Given the description of an element on the screen output the (x, y) to click on. 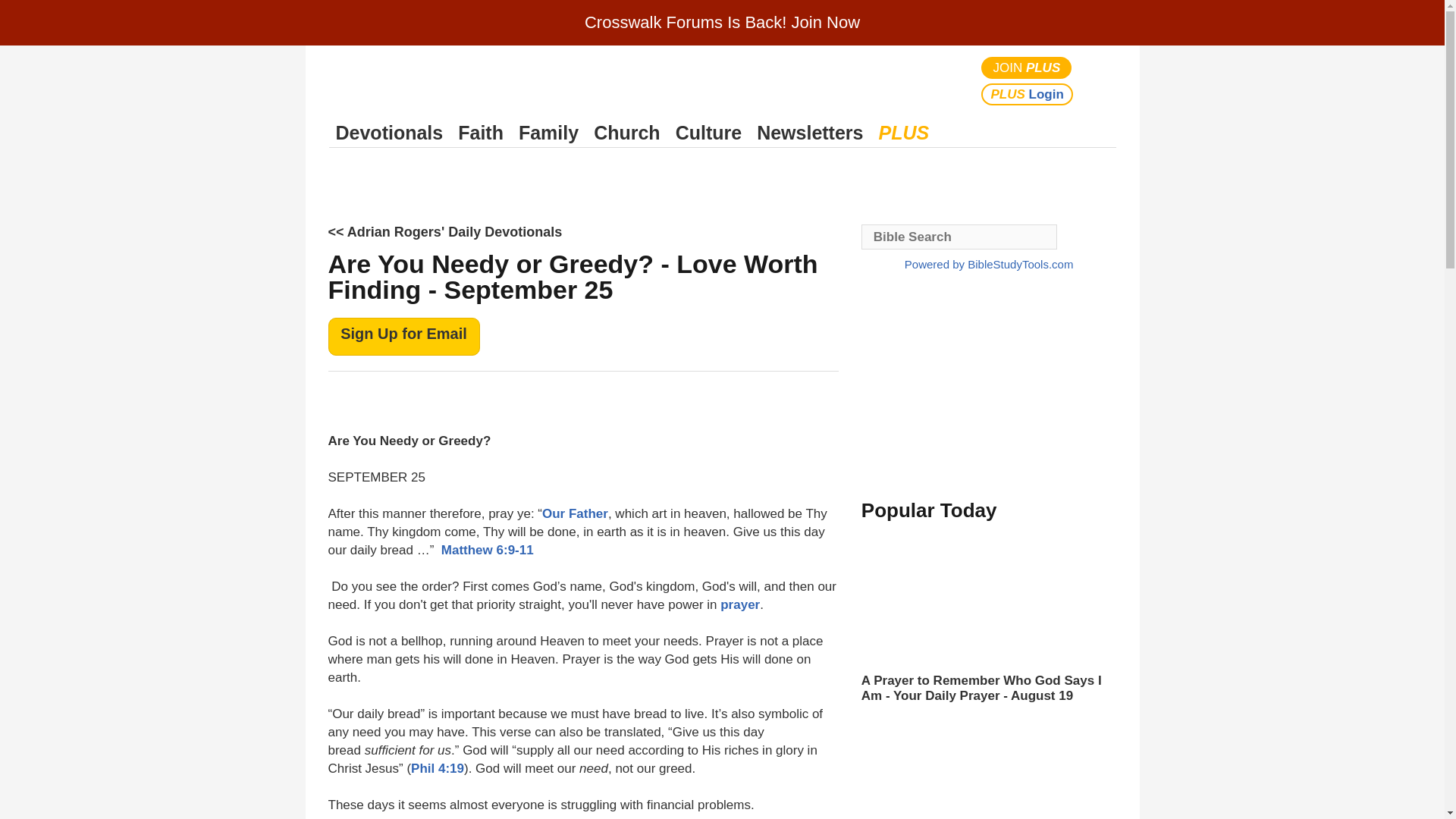
Search (1101, 80)
JOIN PLUS (1026, 67)
Family (548, 132)
Devotionals (389, 132)
Join Plus (1026, 67)
Faith (481, 132)
PLUS Login (1026, 94)
Plus Login (1026, 94)
